Given the description of an element on the screen output the (x, y) to click on. 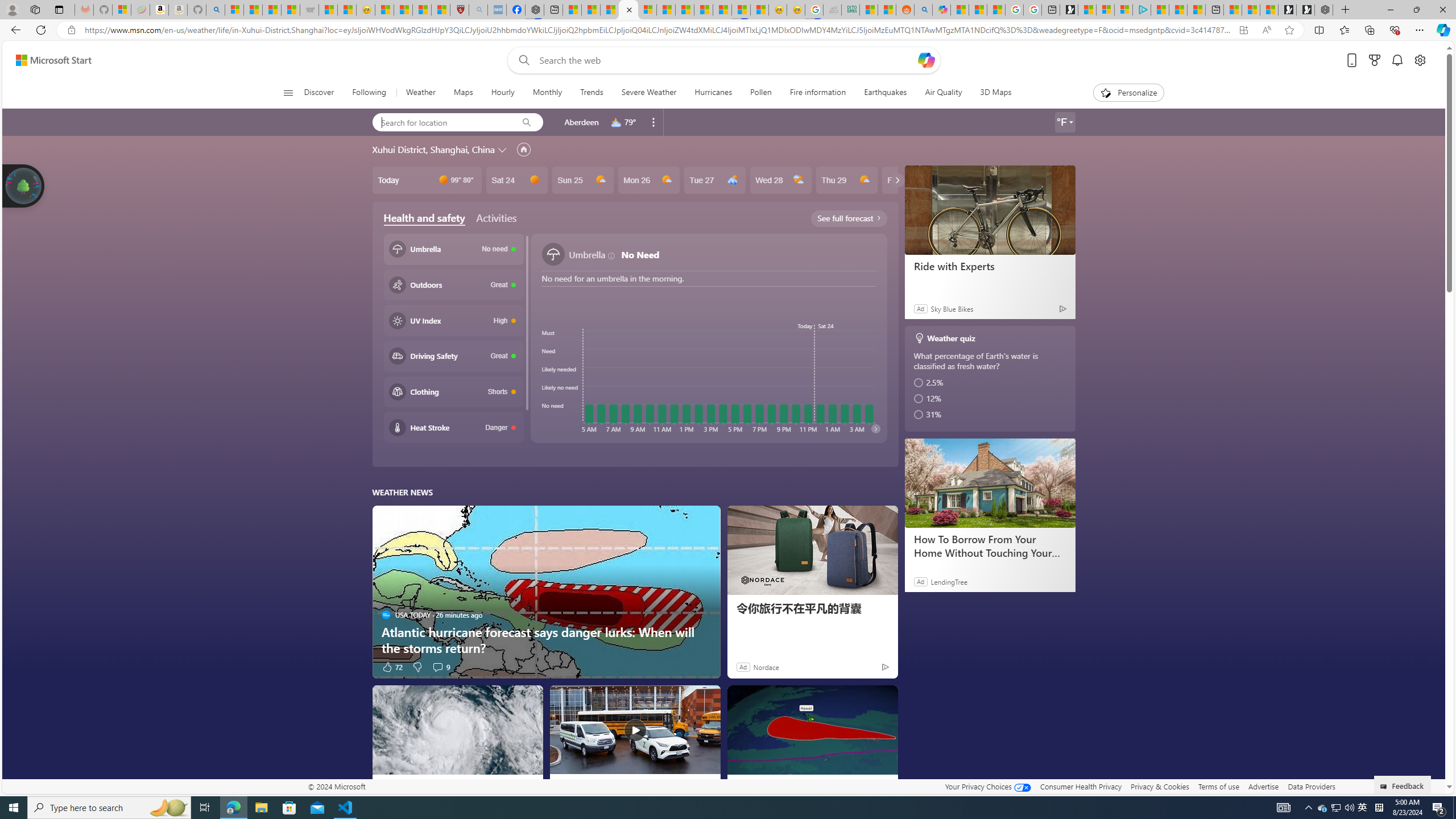
Severe Weather (648, 92)
UV index High (453, 319)
Aberdeen (581, 121)
Pollen (760, 92)
Outdoors Great (453, 284)
